Given the description of an element on the screen output the (x, y) to click on. 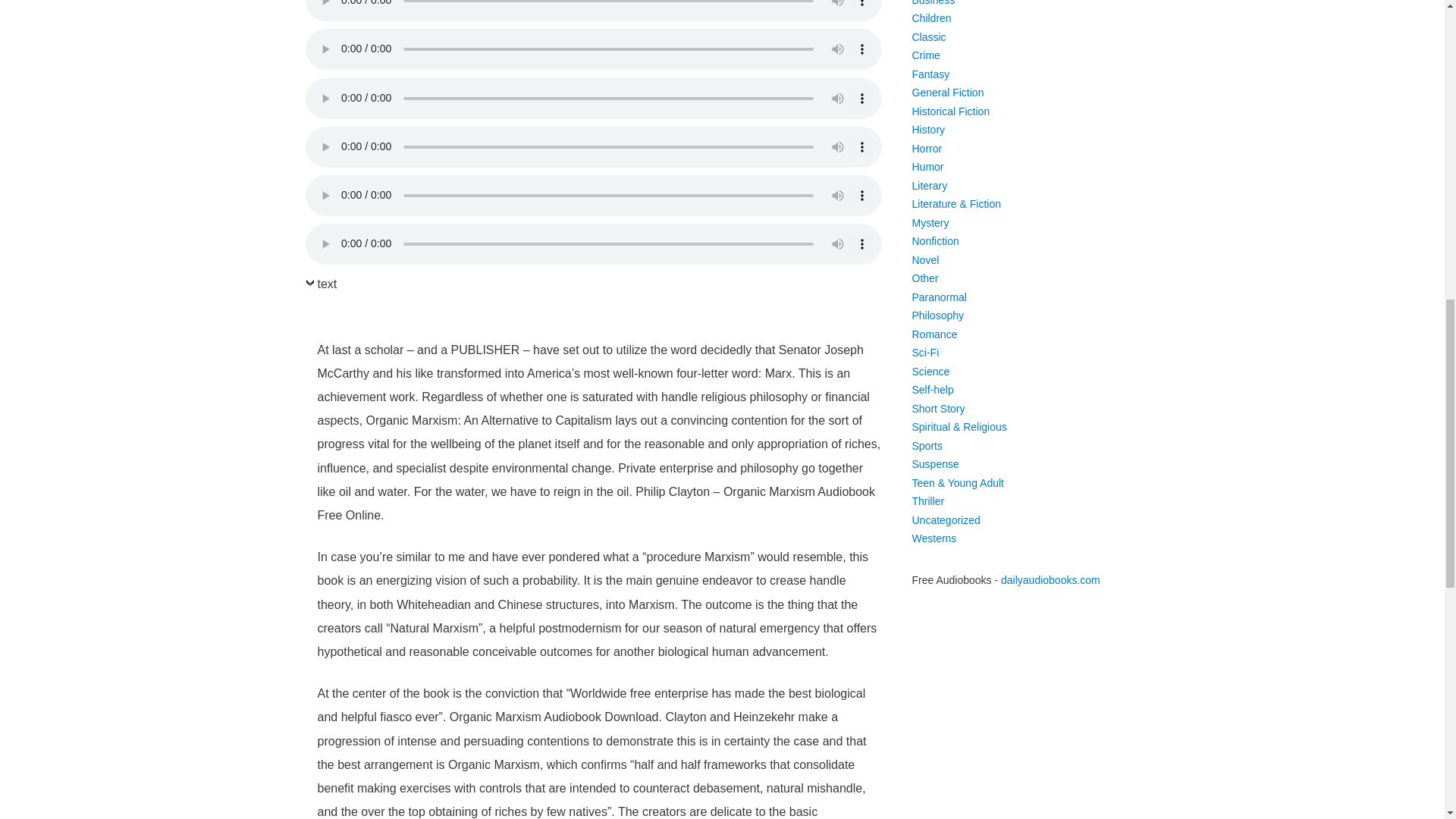
text (320, 287)
